Given the description of an element on the screen output the (x, y) to click on. 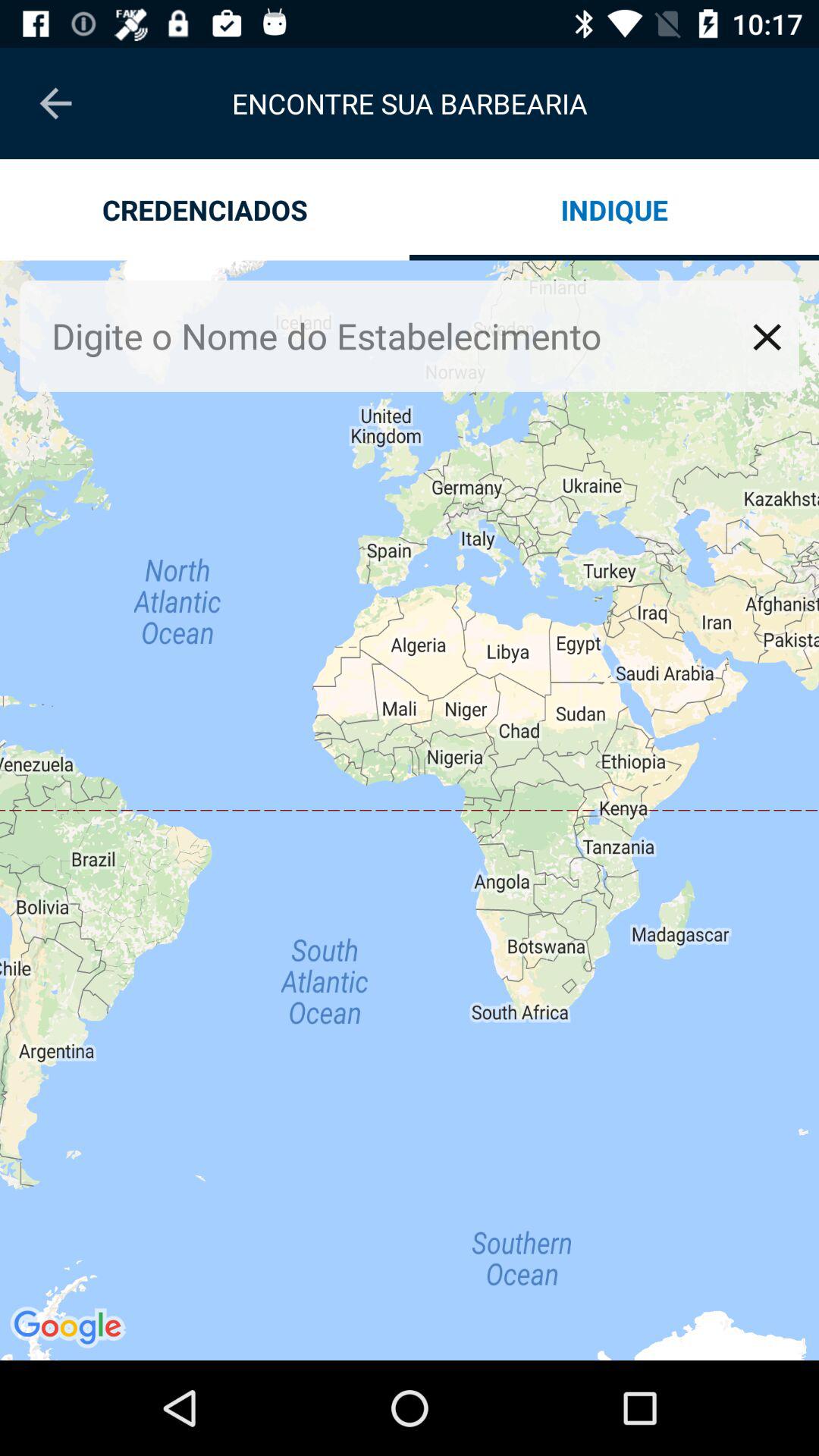
click the item next to the encontre sua barbearia item (55, 103)
